Given the description of an element on the screen output the (x, y) to click on. 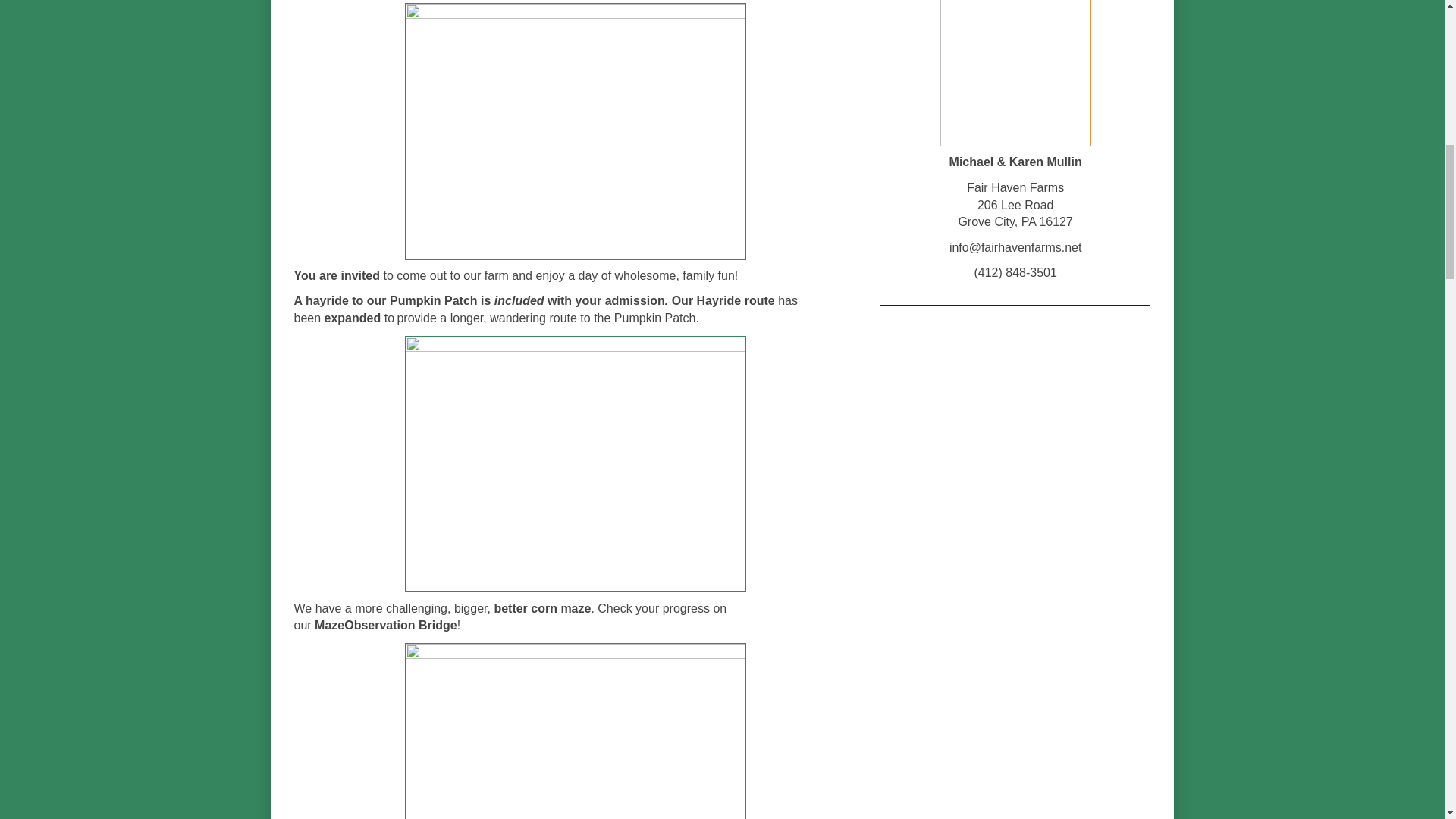
Back to Top (1412, 30)
